Given the description of an element on the screen output the (x, y) to click on. 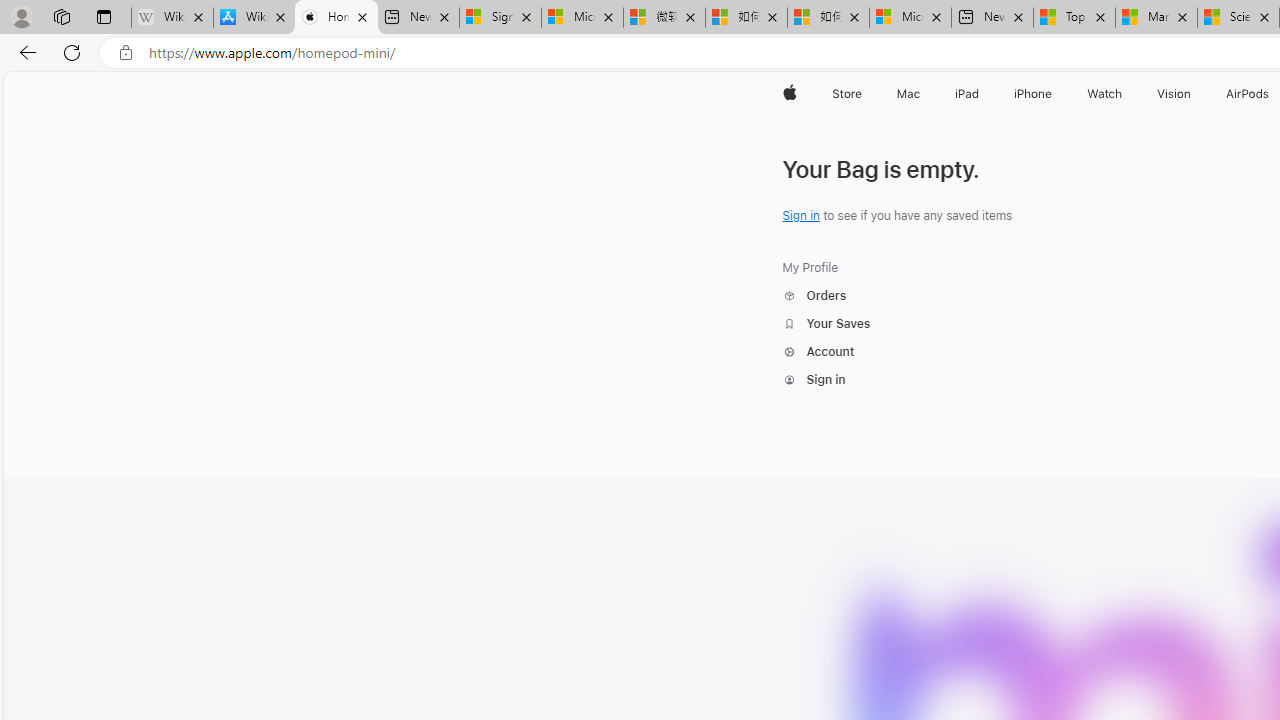
Vision (1174, 93)
Your Saves (826, 323)
Account (819, 352)
Vision (1174, 93)
HomePod mini - Apple (336, 17)
Your Saves (826, 323)
Class: globalnav-submenu-trigger-item (1195, 93)
AirPods (1247, 93)
Mac (908, 93)
